Given the description of an element on the screen output the (x, y) to click on. 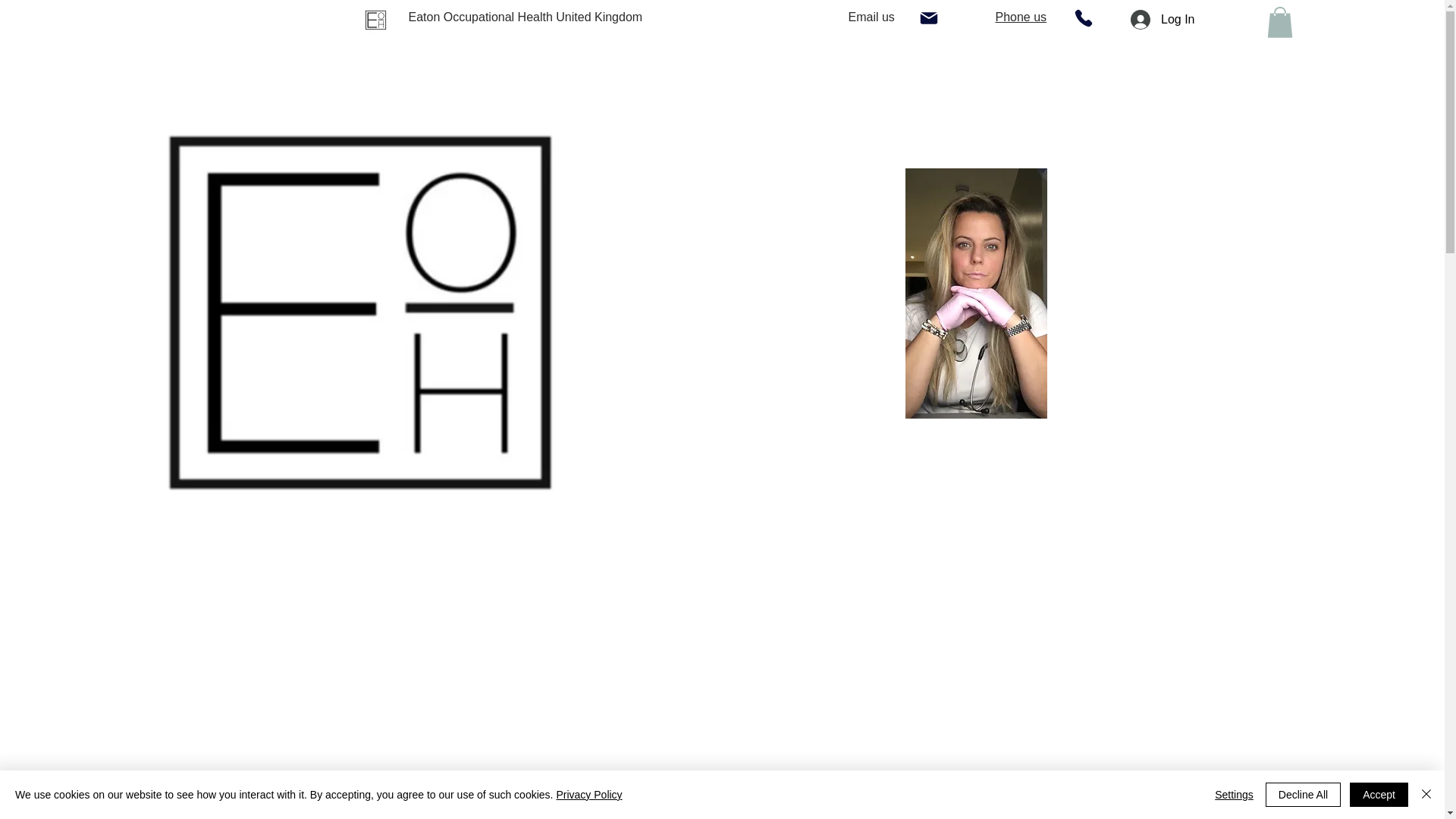
Videos (1212, 76)
Vaccinations (375, 76)
Home (37, 76)
Book Online (965, 76)
Corporate Bookings (1096, 76)
Phone us (1020, 16)
Absence Management (826, 76)
Accept (1378, 794)
Decline All (1302, 794)
Log In (1162, 19)
